Given the description of an element on the screen output the (x, y) to click on. 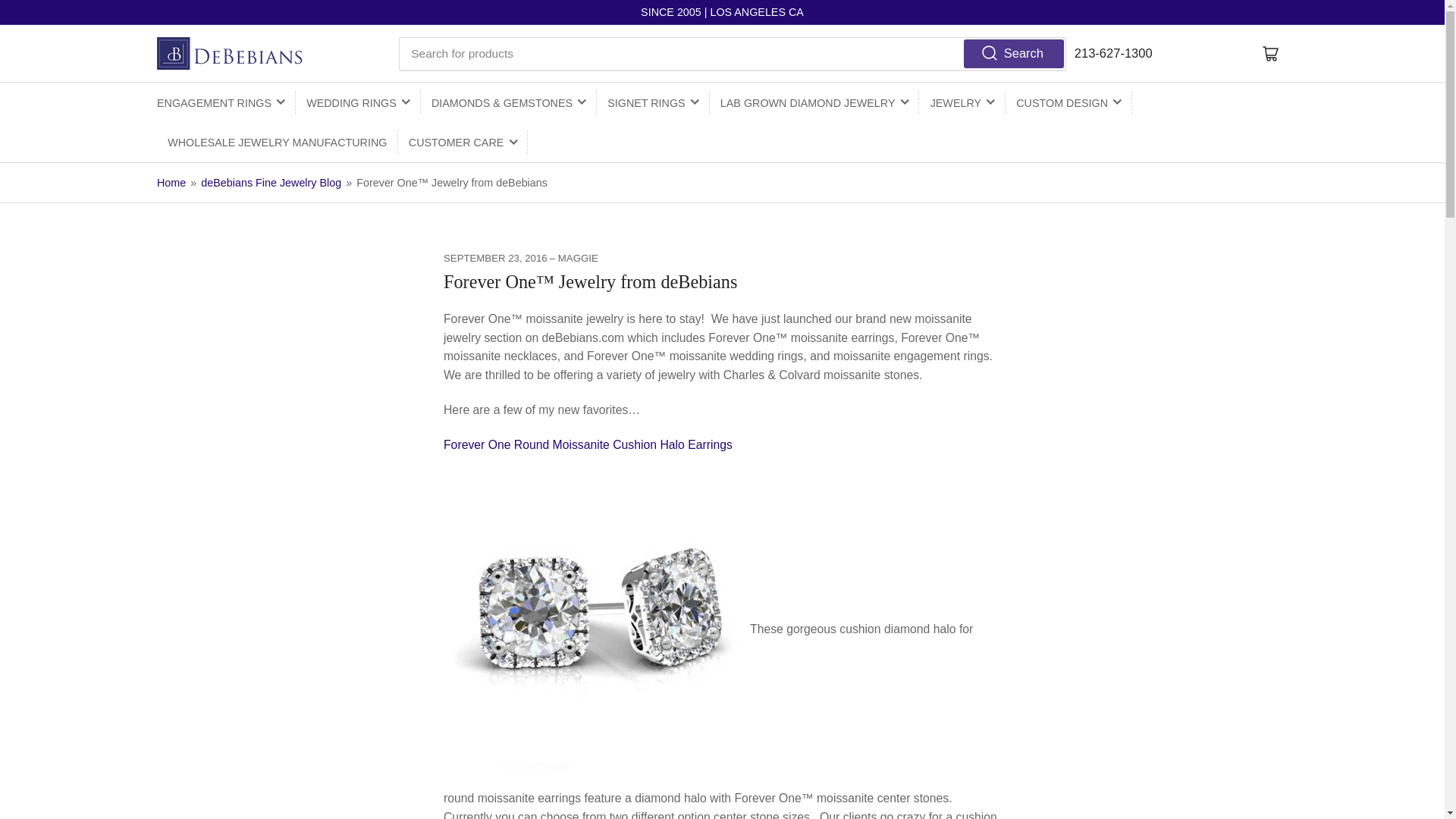
tel:213-627-1300 (1113, 52)
Search (1012, 52)
213-627-1300 (1113, 52)
Open mini cart (1270, 53)
